Given the description of an element on the screen output the (x, y) to click on. 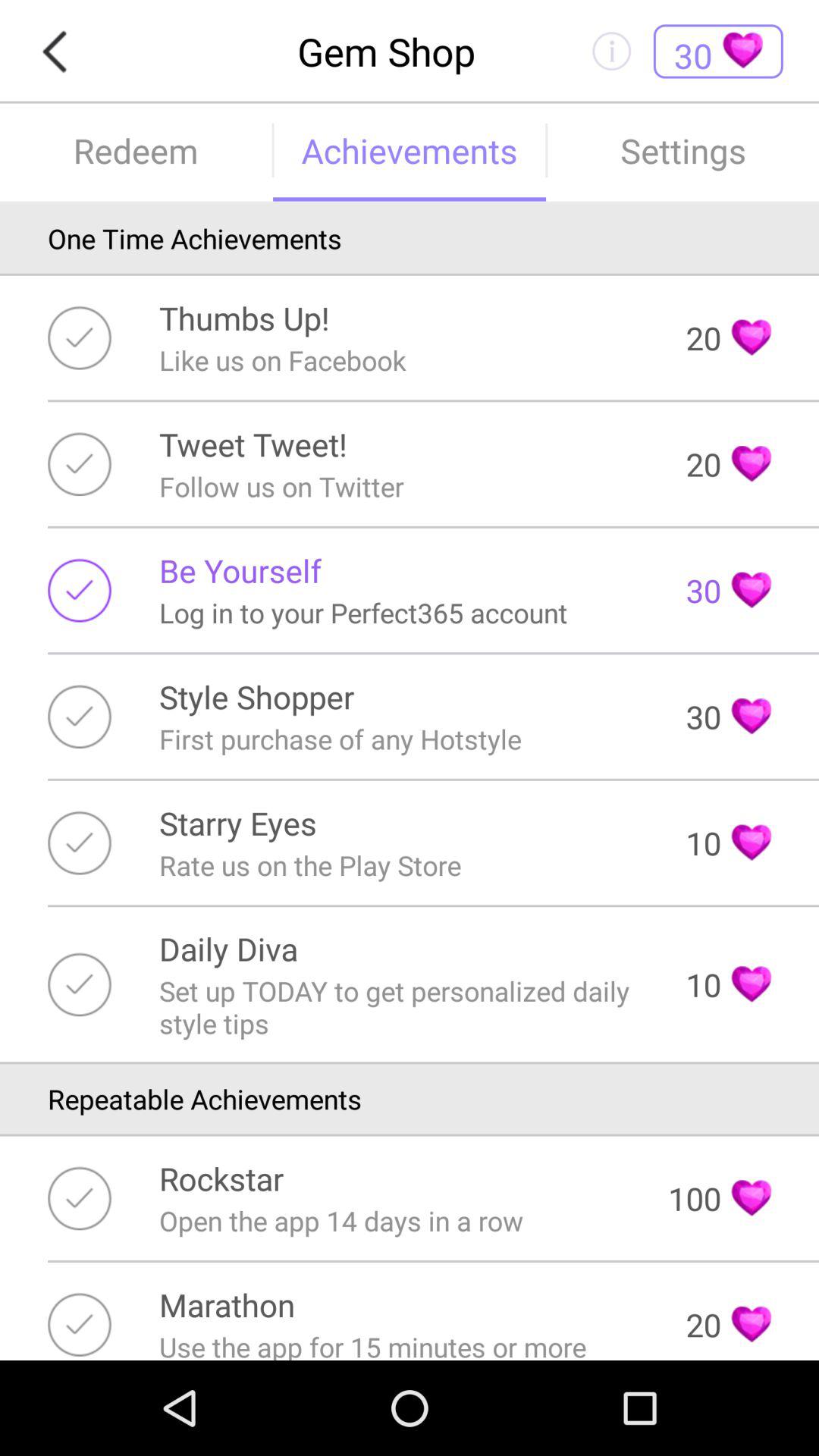
click the item to the left of 20 icon (244, 317)
